Given the description of an element on the screen output the (x, y) to click on. 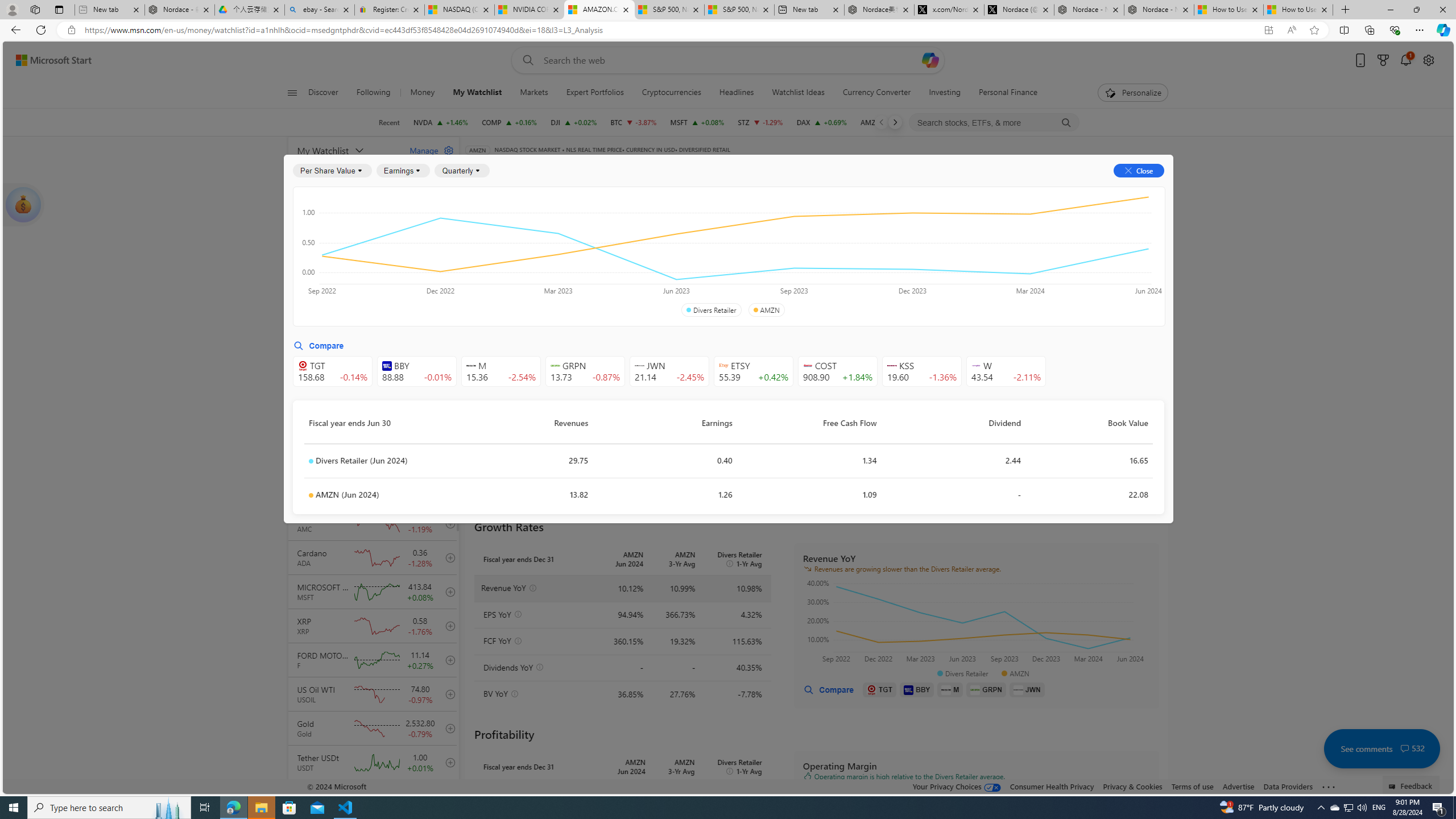
BTC Bitcoin decrease 60,049.35 -2,320.91 -3.87% (632, 122)
Manage (427, 150)
Consumer Health Privacy (1051, 786)
Search stocks, ETFs, & more (995, 122)
Cash Flow (663, 223)
Expert Portfolios (594, 92)
Following (373, 92)
Data Providers (1288, 786)
DAX DAX increase 18,811.34 +129.53 +0.69% (821, 122)
Data Providers (1288, 785)
Sentiment (1066, 188)
MSFT MICROSOFT CORPORATION increase 413.84 +0.35 +0.08% (696, 122)
Balance Sheet (614, 223)
